Given the description of an element on the screen output the (x, y) to click on. 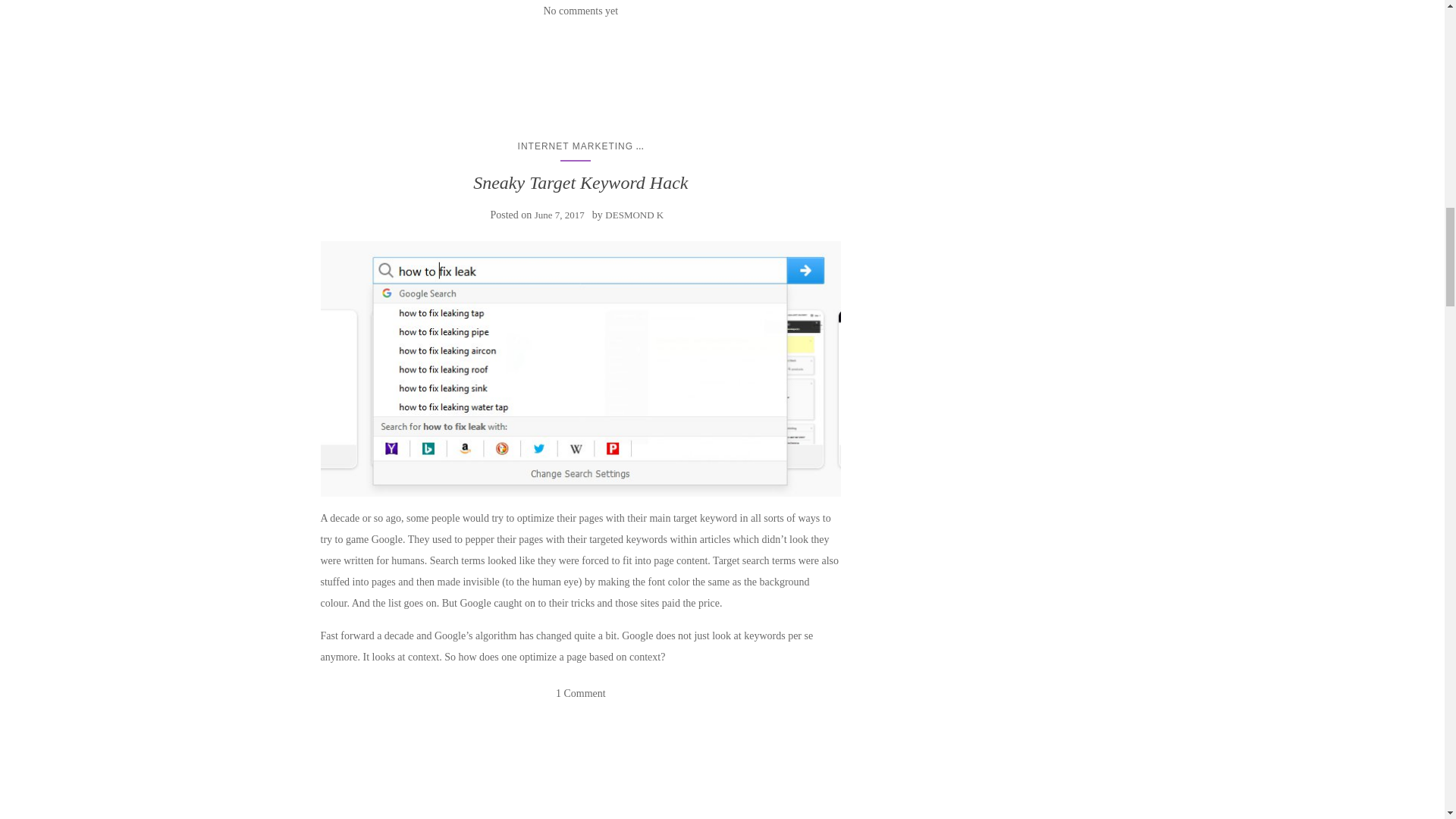
1 Comment (580, 693)
Sneaky Target Keyword Hack (580, 182)
June 7, 2017 (559, 214)
DESMOND K (634, 214)
No comments yet (580, 10)
INTERNET MARKETING (575, 145)
